Given the description of an element on the screen output the (x, y) to click on. 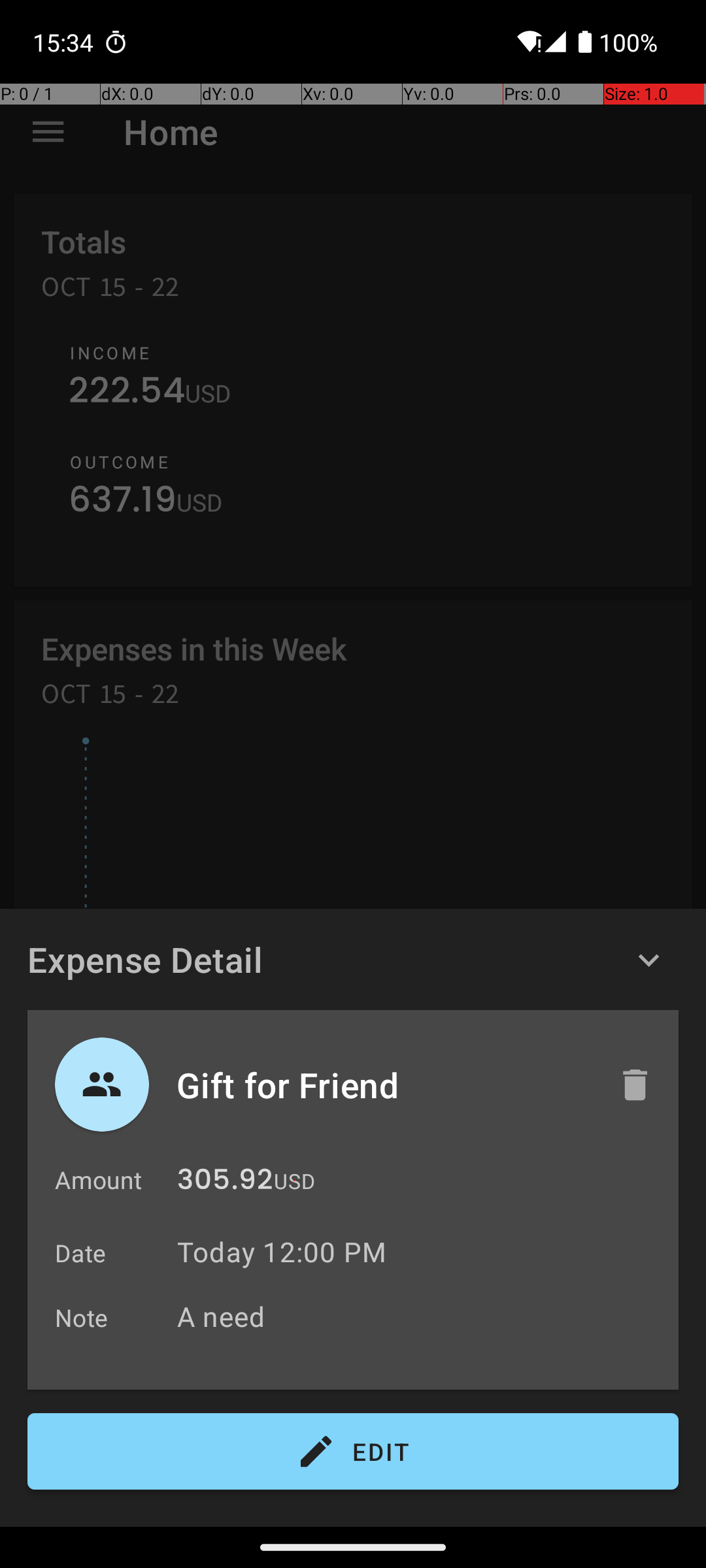
305.92 Element type: android.widget.TextView (224, 1182)
Today 12:00 PM Element type: android.widget.TextView (281, 1251)
